Given the description of an element on the screen output the (x, y) to click on. 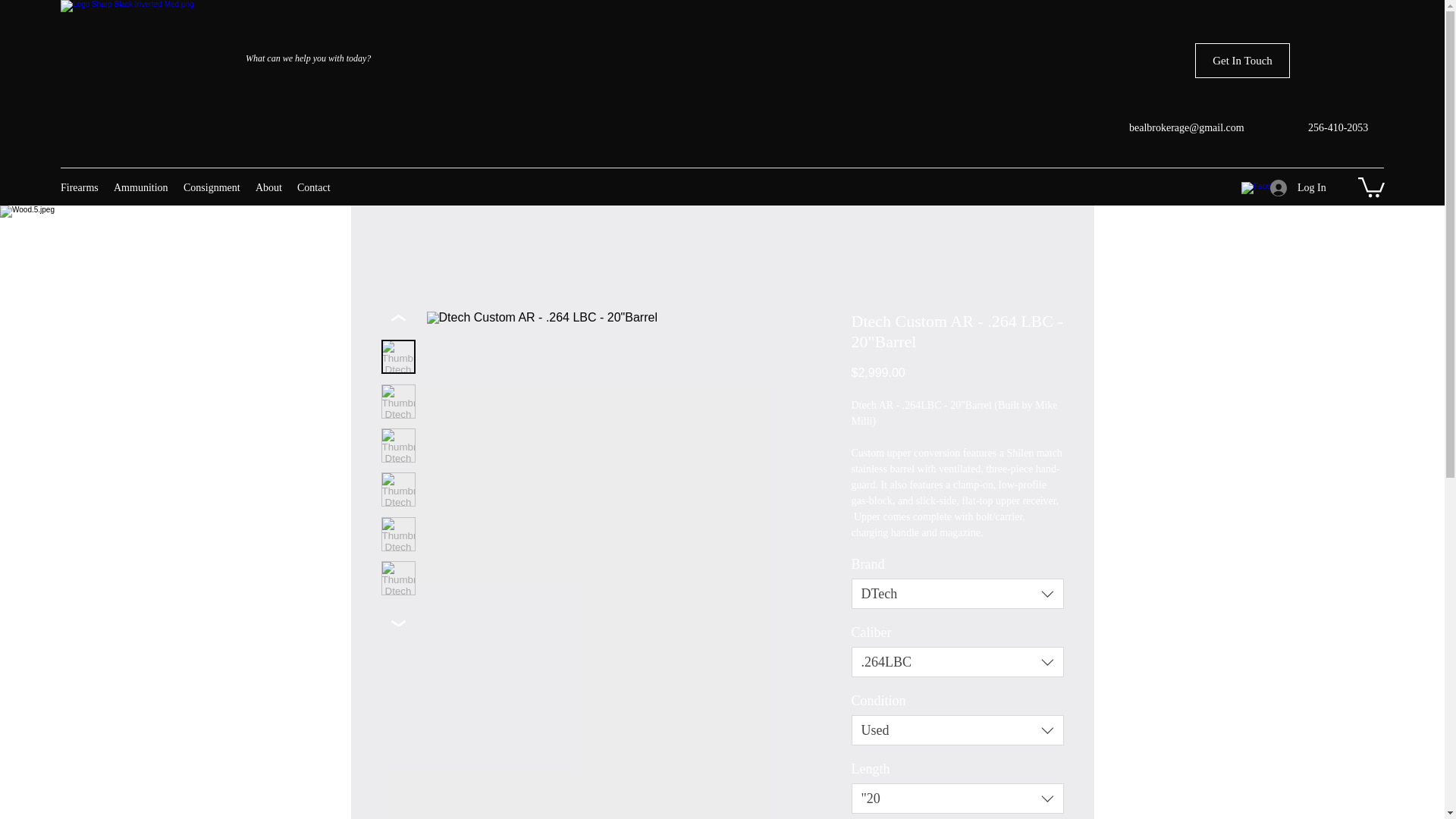
Contact (313, 187)
Firearms (79, 187)
About (268, 187)
"20 (956, 798)
Log In (1289, 187)
Consignment (211, 187)
Get In Touch (1242, 60)
DTech (956, 593)
Used (956, 729)
.264LBC (956, 662)
